Given the description of an element on the screen output the (x, y) to click on. 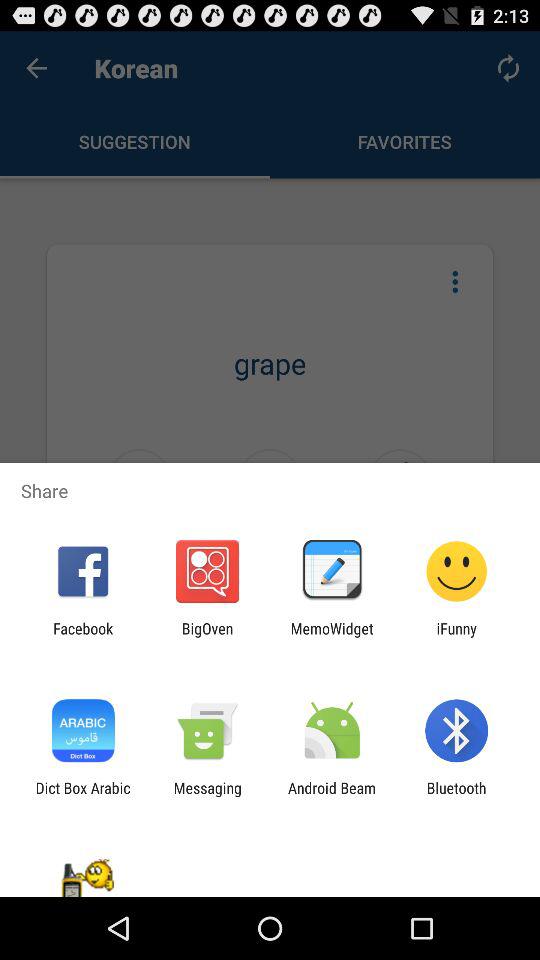
select item next to the bigoven app (331, 637)
